Given the description of an element on the screen output the (x, y) to click on. 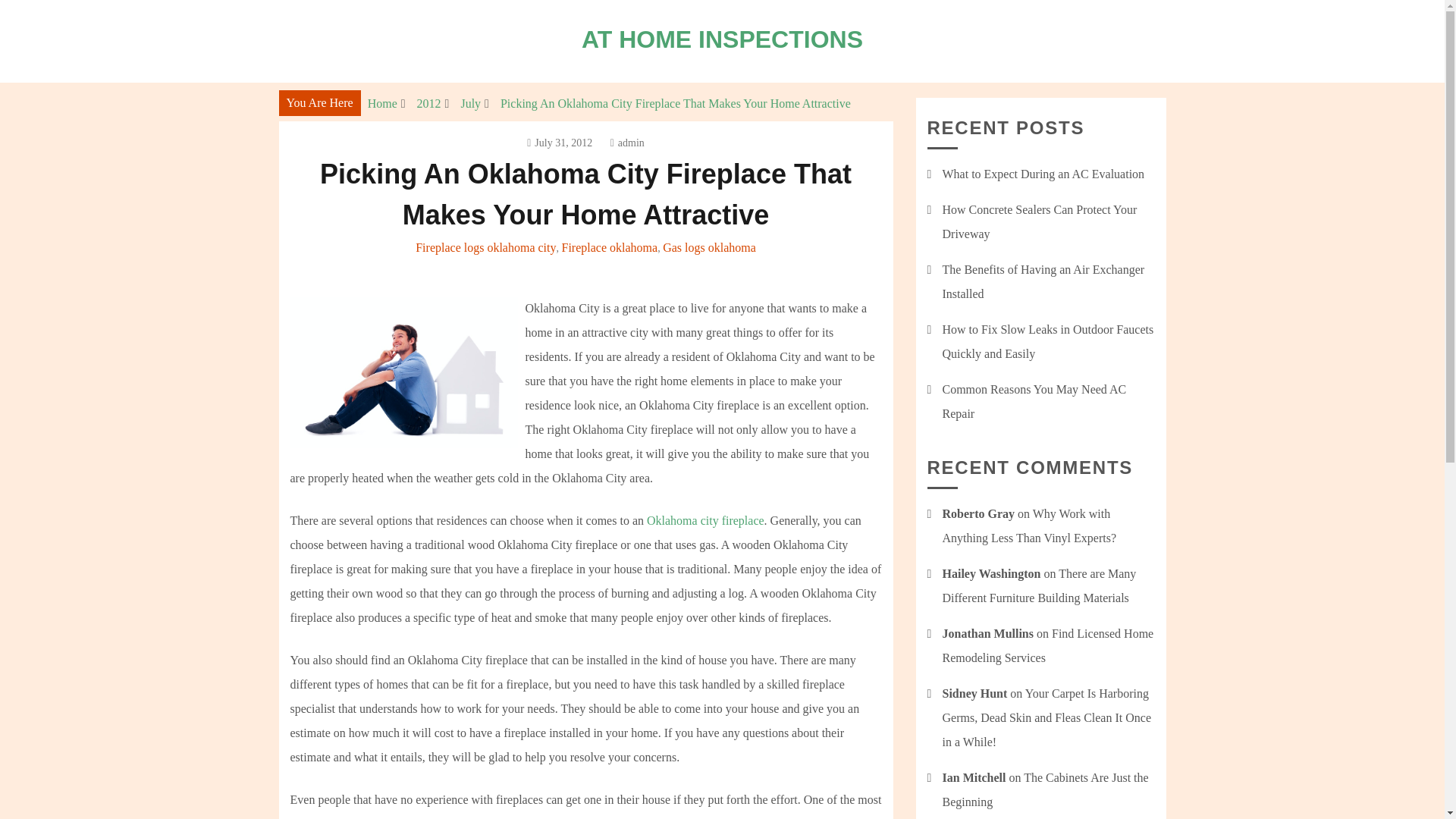
admin (627, 142)
How Concrete Sealers Can Protect Your Driveway (1039, 221)
Ian Mitchell (974, 777)
July (470, 103)
Fireplace logs oklahoma city (485, 246)
Why Work with Anything Less Than Vinyl Experts? (1029, 525)
What to Expect During an AC Evaluation (1043, 173)
Oklahoma city fireplace (705, 520)
Sidney Hunt (974, 693)
